Given the description of an element on the screen output the (x, y) to click on. 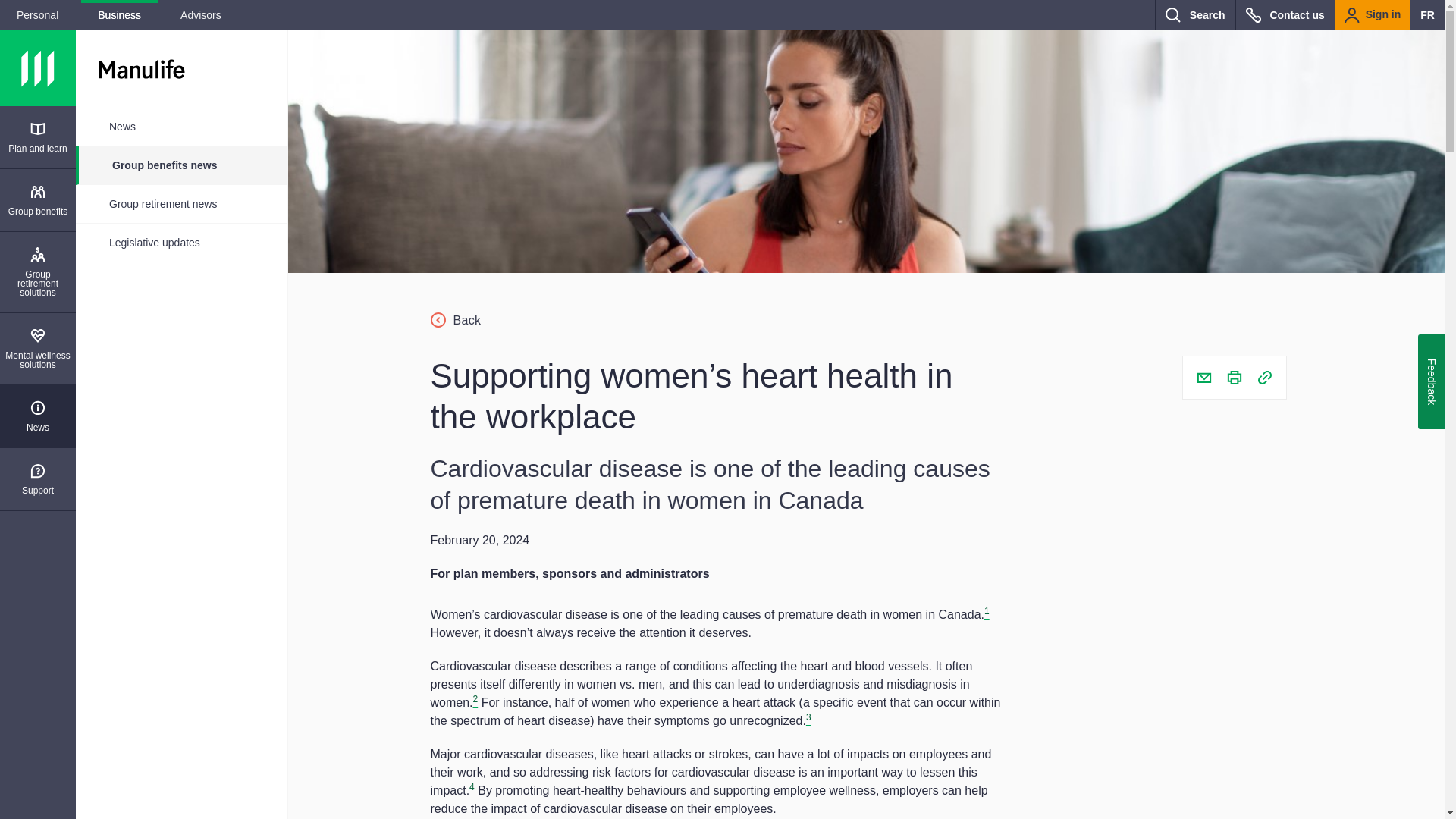
Print page (1234, 377)
Search (1194, 15)
Business (119, 15)
Contact us (1284, 15)
Group benefits (37, 199)
Plan and learn (37, 137)
Personal (37, 15)
Contact us (1284, 15)
Advisors (200, 15)
Copy page URL (1264, 377)
Email (1204, 377)
Sign in (1372, 15)
